Given the description of an element on the screen output the (x, y) to click on. 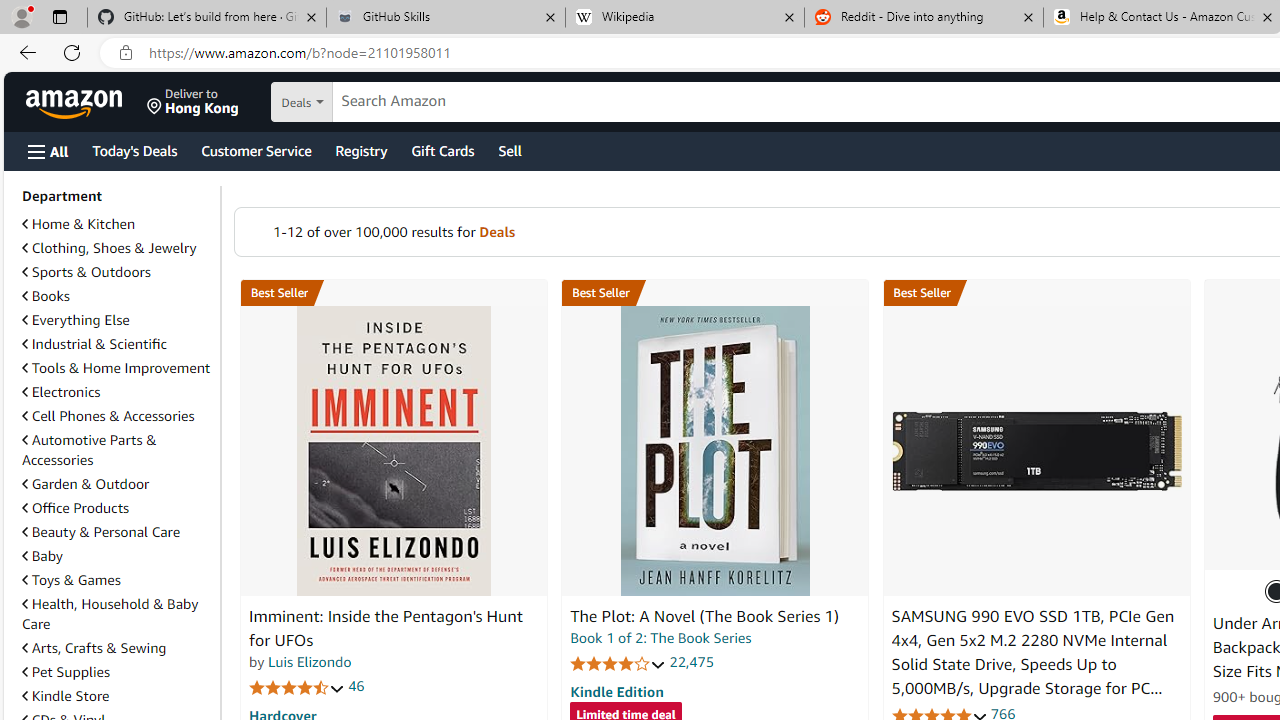
GitHub Skills (445, 17)
Toys & Games (117, 579)
Cell Phones & Accessories (107, 415)
Sports & Outdoors (86, 271)
Baby (117, 555)
Office Products (75, 507)
Arts, Crafts & Sewing (93, 647)
Books (45, 296)
Beauty & Personal Care (100, 531)
Health, Household & Baby Care (117, 614)
Home & Kitchen (117, 223)
Health, Household & Baby Care (109, 613)
Sports & Outdoors (117, 272)
Deliver to Hong Kong (193, 101)
Open Menu (48, 151)
